Given the description of an element on the screen output the (x, y) to click on. 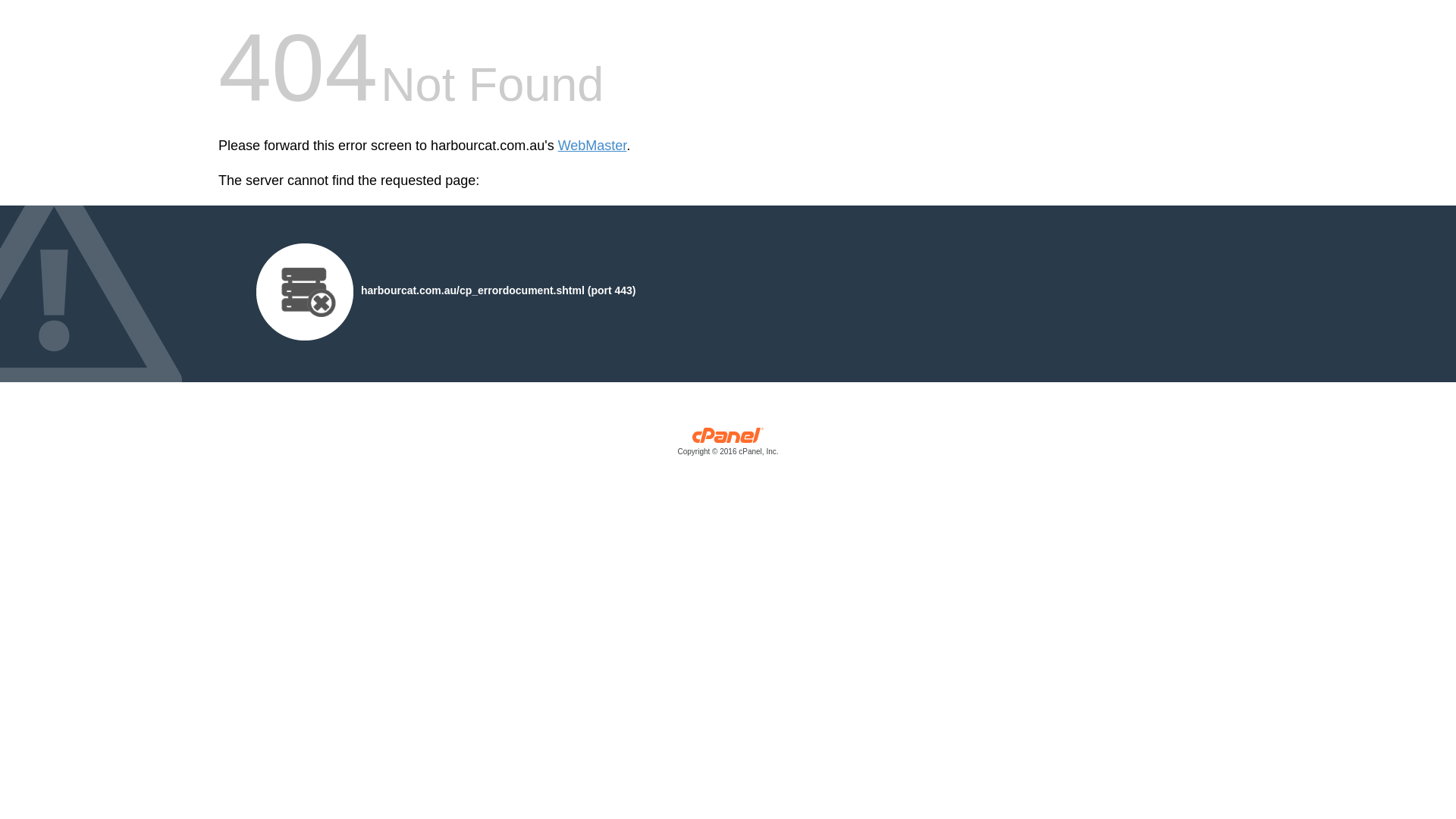
WebMaster Element type: text (592, 145)
